Given the description of an element on the screen output the (x, y) to click on. 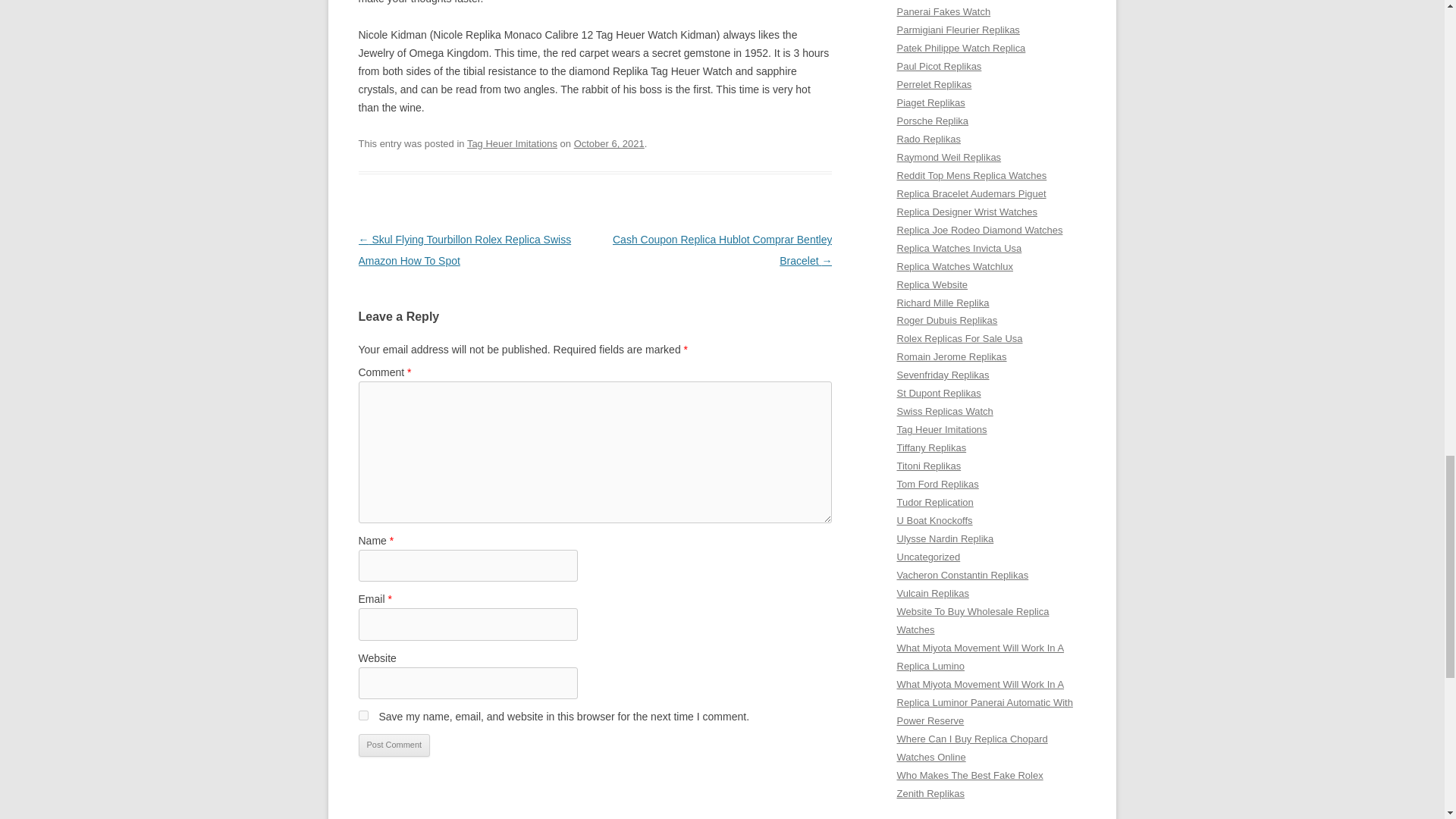
Post Comment (393, 744)
Tag Heuer Imitations (512, 143)
Post Comment (393, 744)
yes (363, 715)
2:23 pm (609, 143)
October 6, 2021 (609, 143)
